Given the description of an element on the screen output the (x, y) to click on. 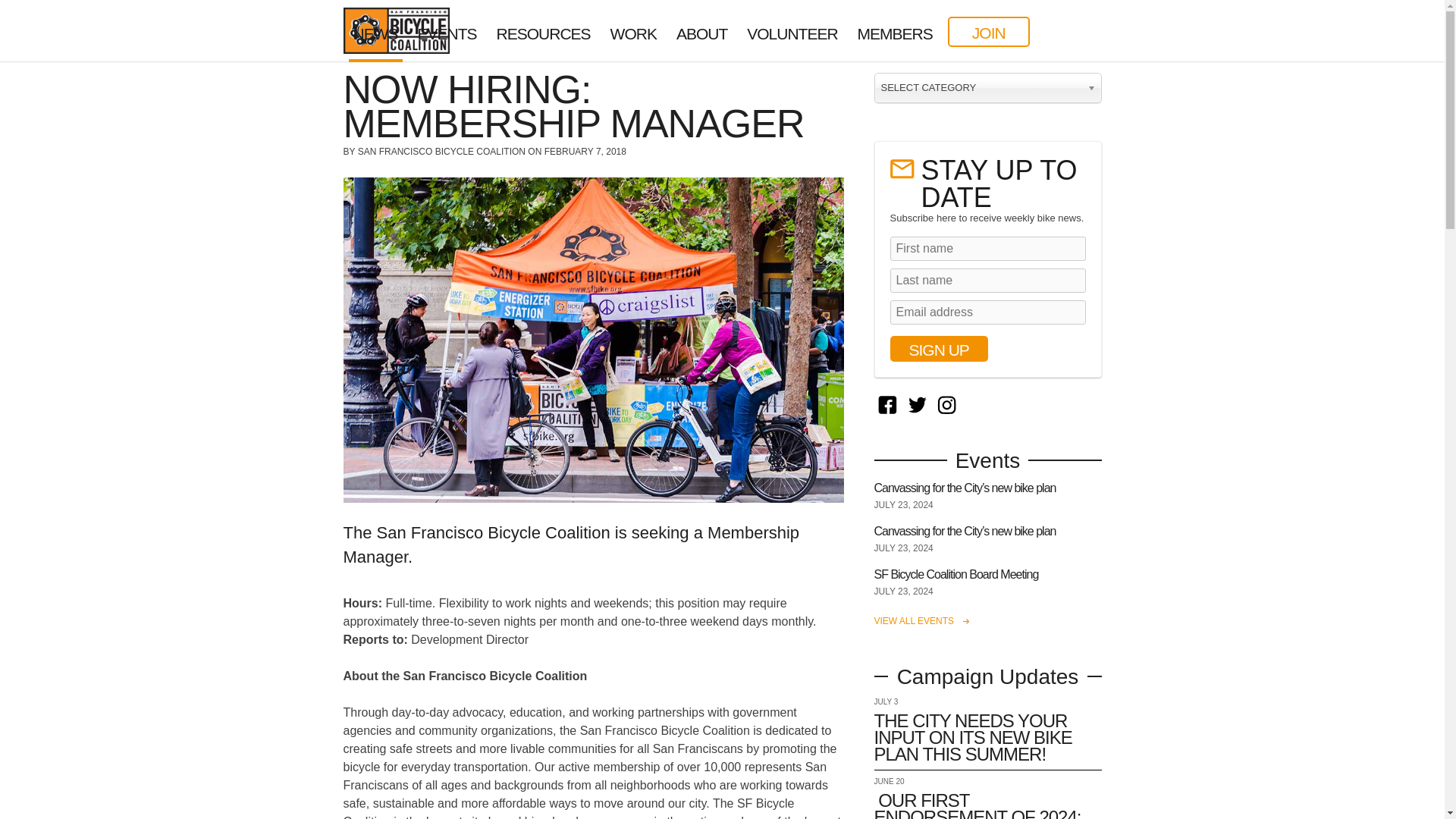
VIEW ALL EVENTS (921, 620)
EVENTS (446, 31)
Sign up (938, 348)
Facebook (886, 404)
WORK (633, 31)
Instagram (946, 404)
THE CITY NEEDS YOUR INPUT ON ITS NEW BIKE PLAN THIS SUMMER! (972, 737)
San Francisco Bicycle Coalition (427, 15)
Sign up (938, 348)
JOIN (988, 31)
SF Bicycle Coalition Board Meeting (955, 574)
NEWS (376, 33)
RESOURCES (543, 31)
Twitter (916, 404)
